Given the description of an element on the screen output the (x, y) to click on. 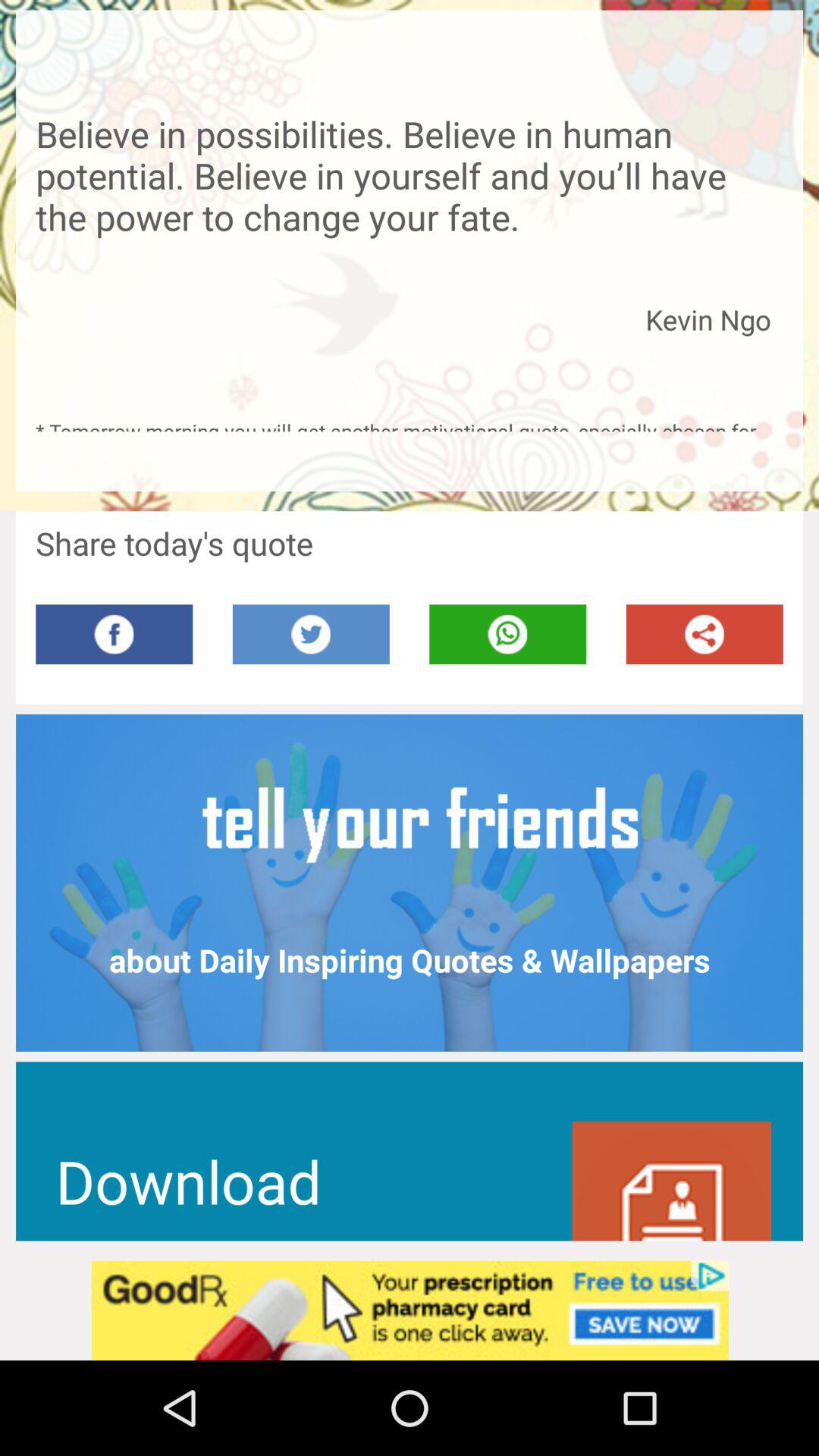
share the article (704, 634)
